Given the description of an element on the screen output the (x, y) to click on. 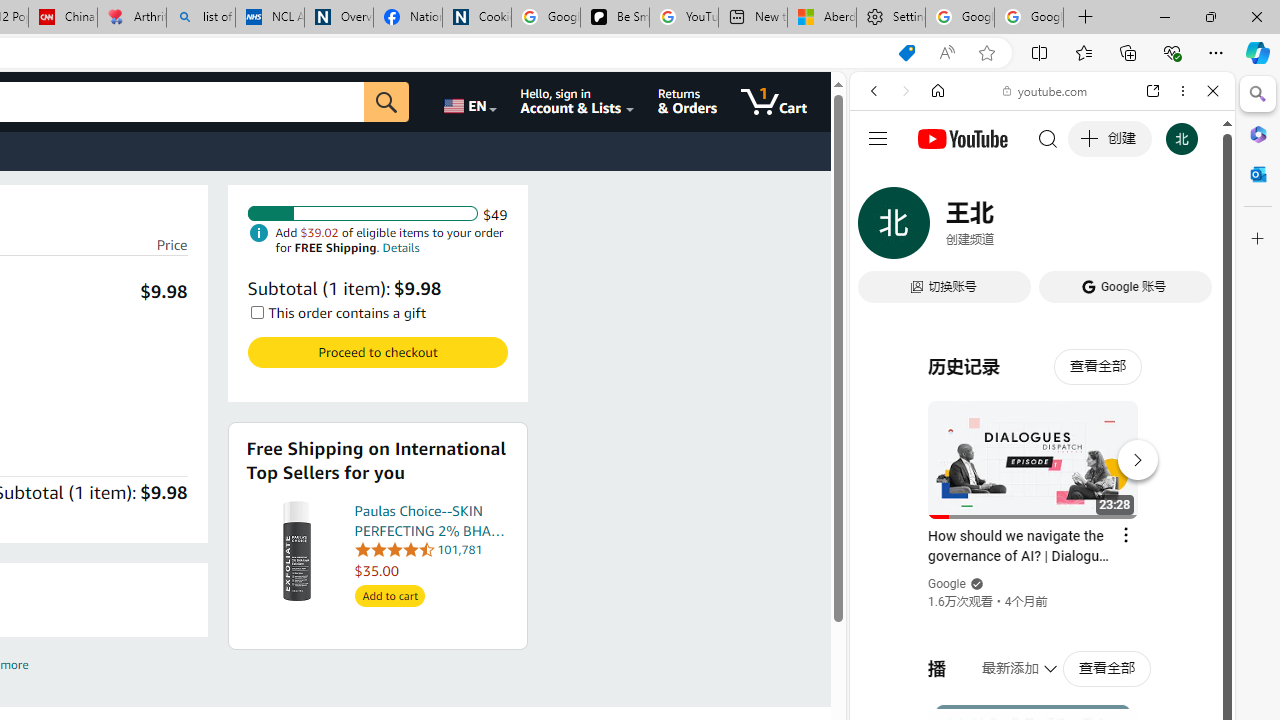
Search videos from youtube.com (1005, 657)
1 item in cart (774, 101)
Show More Music (1164, 546)
$35.00 (431, 570)
